Given the description of an element on the screen output the (x, y) to click on. 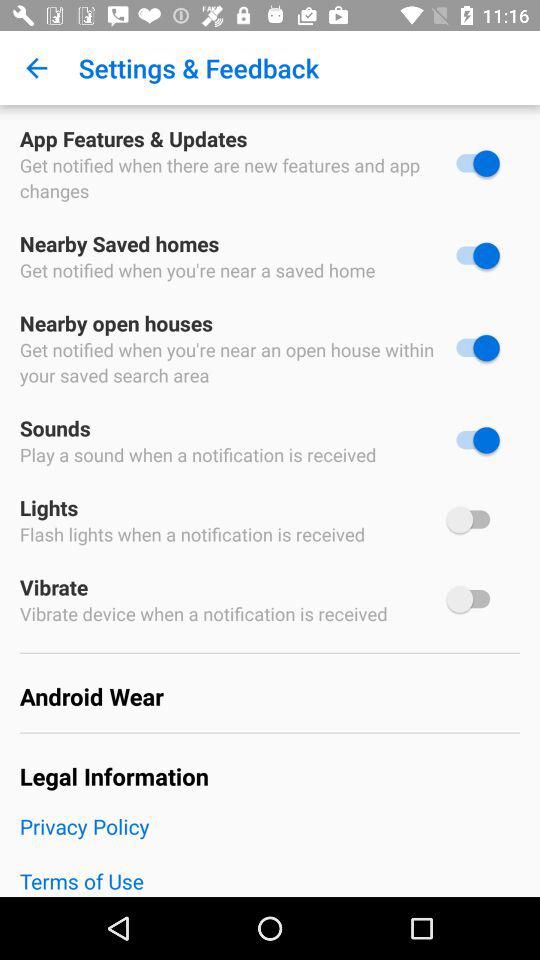
swipe until the terms of use item (269, 881)
